Given the description of an element on the screen output the (x, y) to click on. 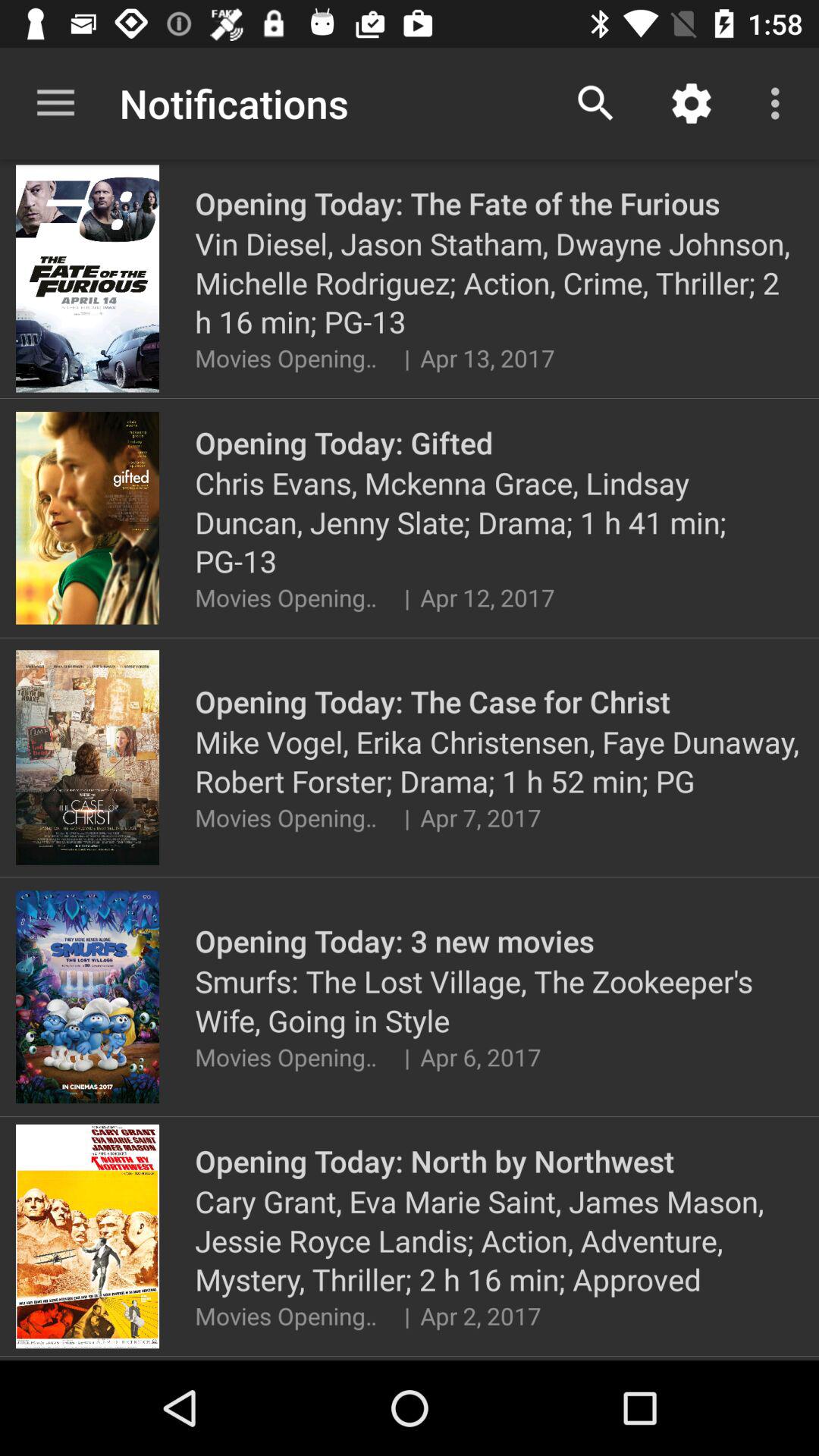
click app to the left of notifications icon (55, 103)
